Given the description of an element on the screen output the (x, y) to click on. 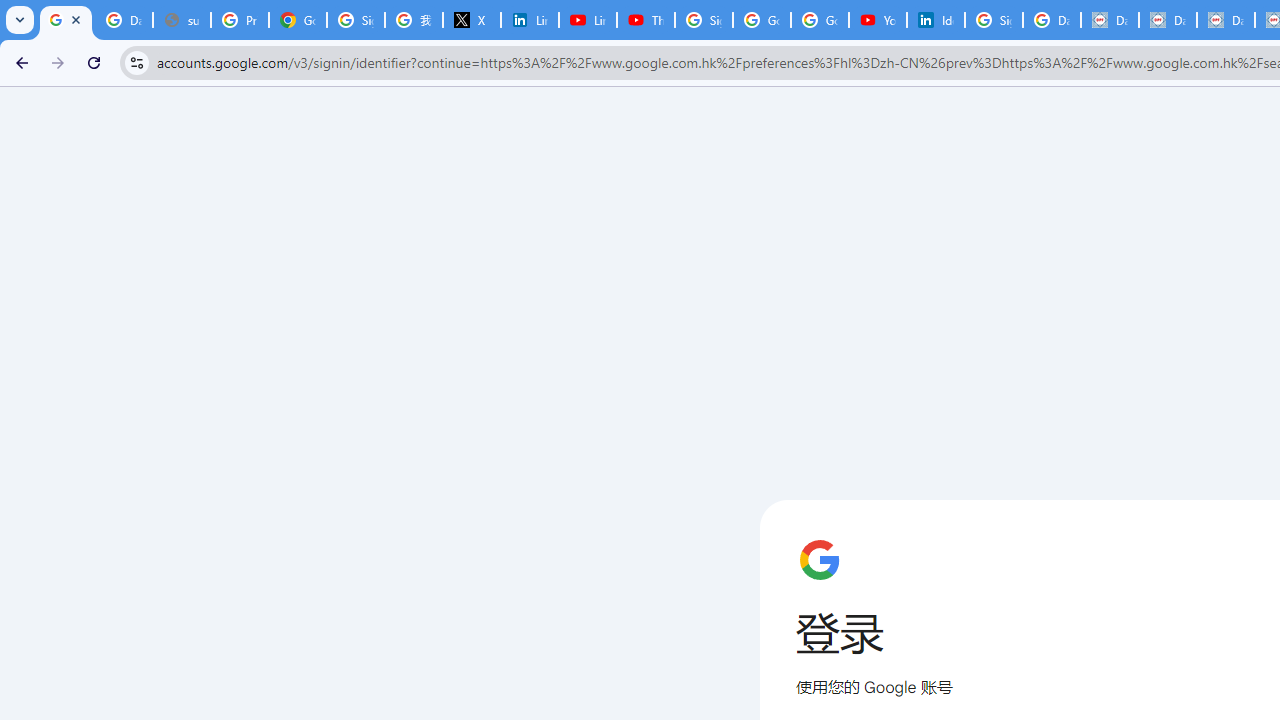
X (471, 20)
Sign in - Google Accounts (355, 20)
LinkedIn Privacy Policy (529, 20)
support.google.com - Network error (181, 20)
Sign in - Google Accounts (703, 20)
Data Privacy Framework (1167, 20)
